Given the description of an element on the screen output the (x, y) to click on. 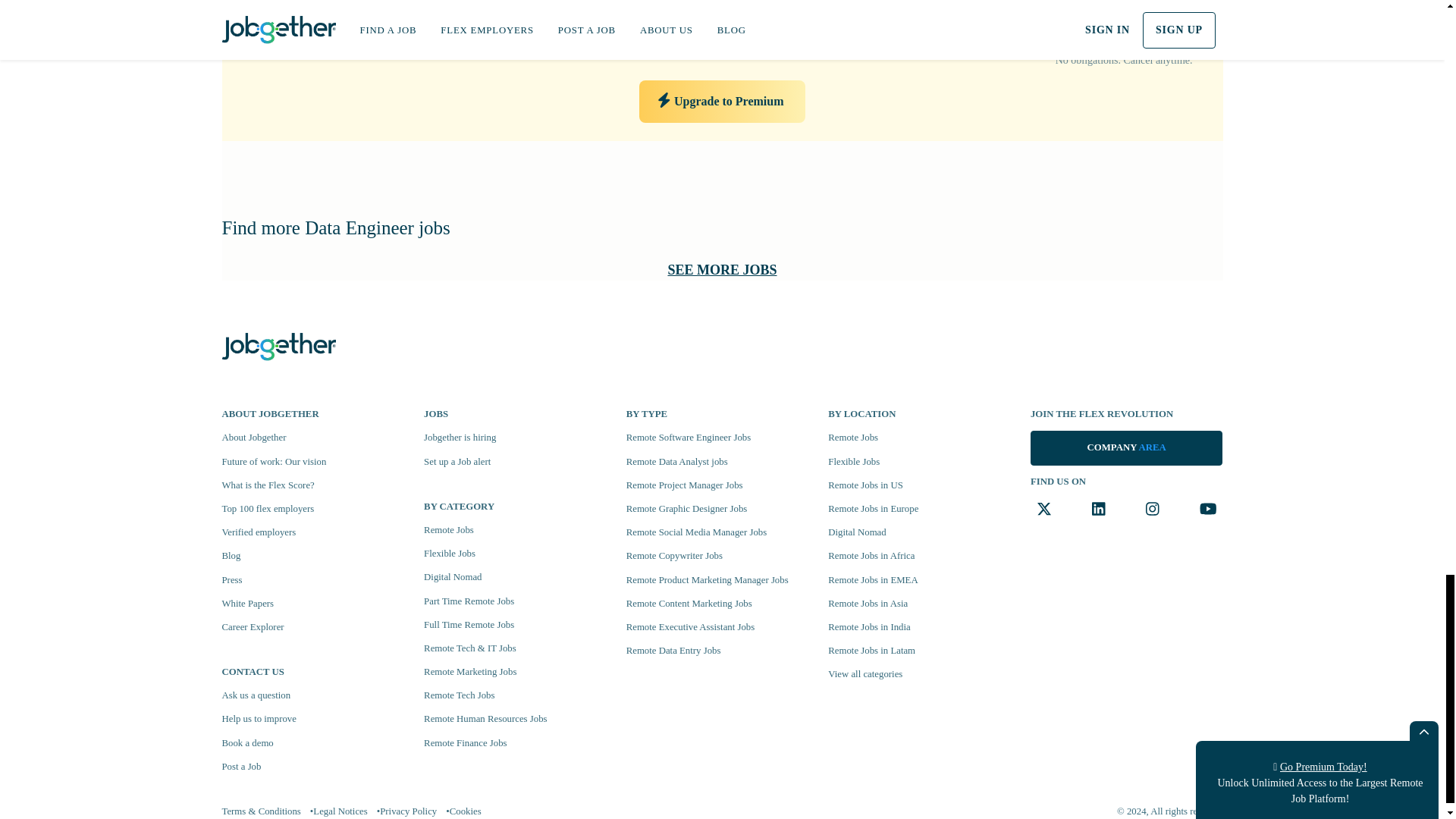
Return to home page (277, 344)
